Given the description of an element on the screen output the (x, y) to click on. 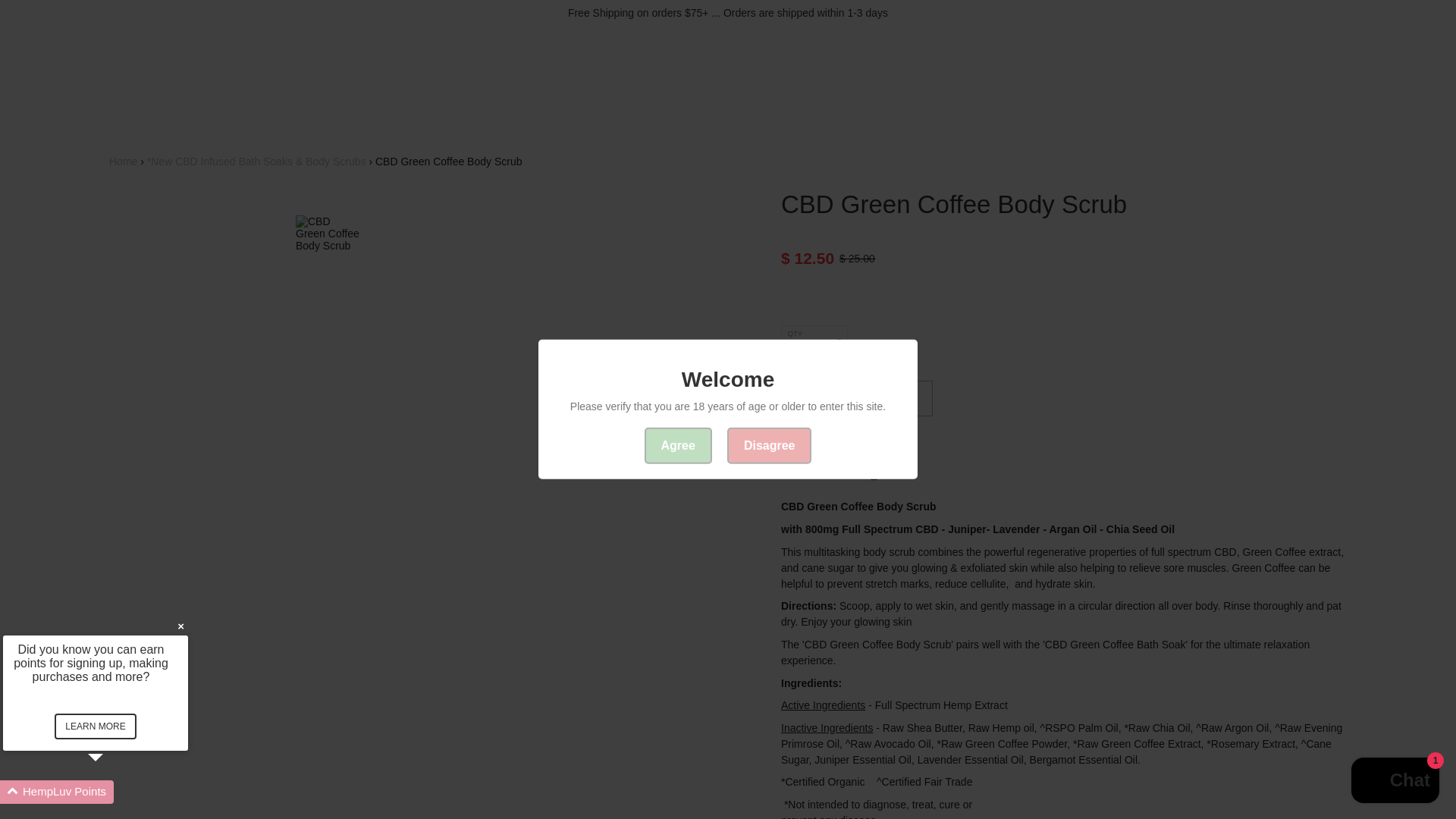
Back to the Homepage (122, 161)
Shopify online store chat (1395, 781)
